Given the description of an element on the screen output the (x, y) to click on. 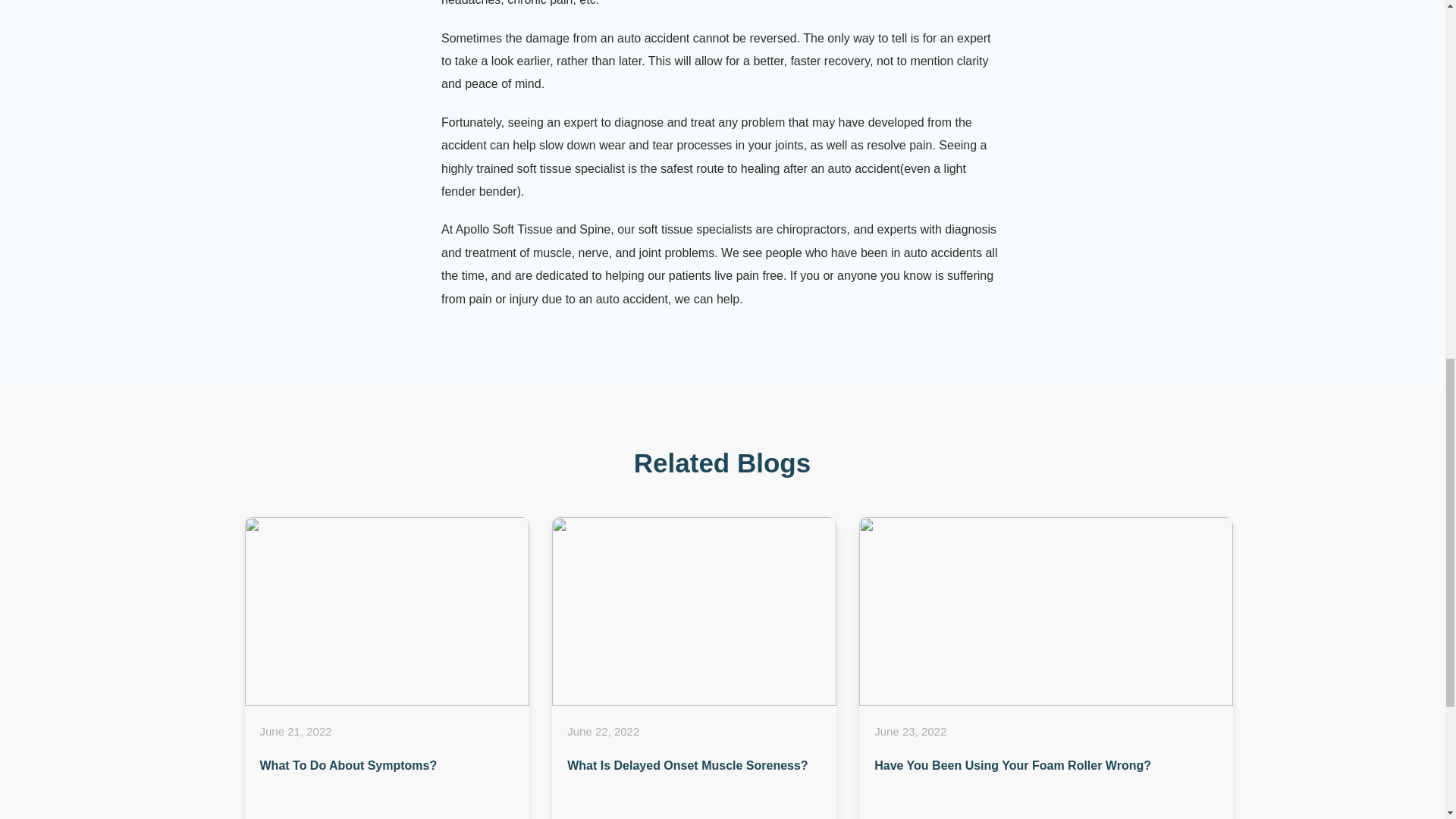
Have You Been Using Your Foam Roller Wrong? (1013, 765)
What To Do About Symptoms? (347, 765)
What Is Delayed Onset Muscle Soreness? (687, 765)
